Given the description of an element on the screen output the (x, y) to click on. 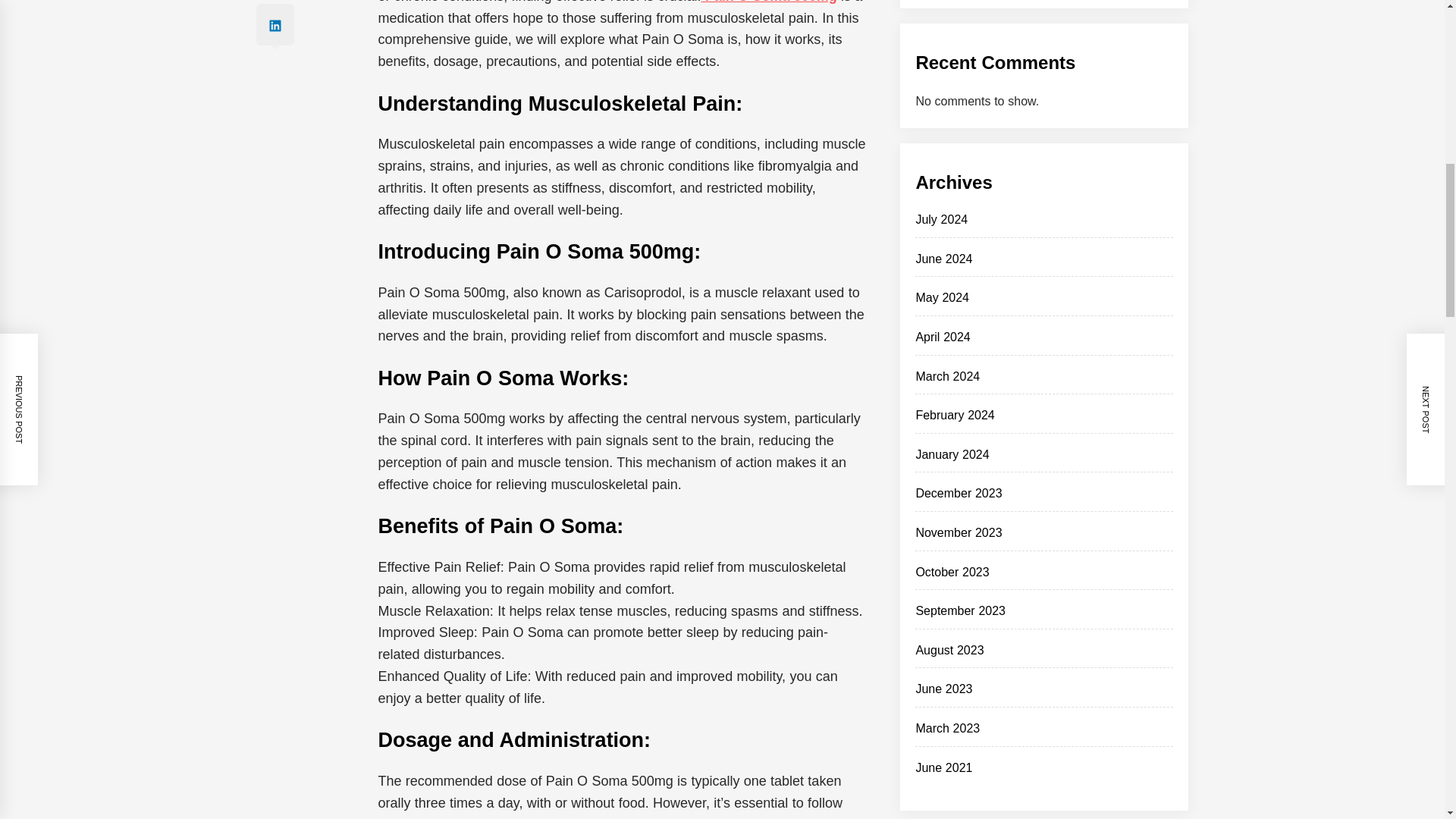
Pain O Soma 500mg (767, 2)
